Given the description of an element on the screen output the (x, y) to click on. 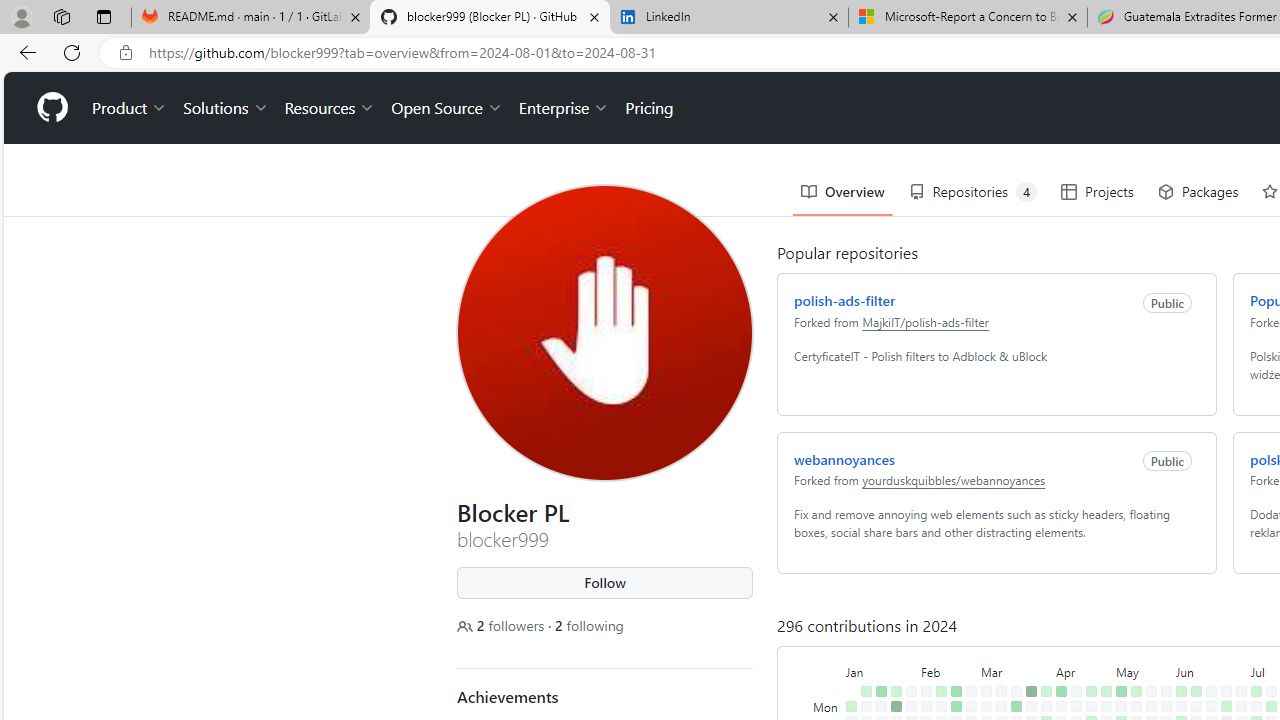
polish-ads-filter (844, 300)
No contributions on January 29th. (911, 706)
Open Source (446, 107)
No contributions on February 4th. (926, 691)
No contributions on March 17th. (1016, 691)
May (1144, 670)
Enterprise (563, 107)
5 contributions on February 18th. (956, 691)
2 contributions on April 28th. (1106, 691)
No contributions on June 30th. (1241, 691)
Projects (1097, 192)
No contributions on March 4th. (986, 706)
2 contributions on June 9th. (1195, 691)
